Given the description of an element on the screen output the (x, y) to click on. 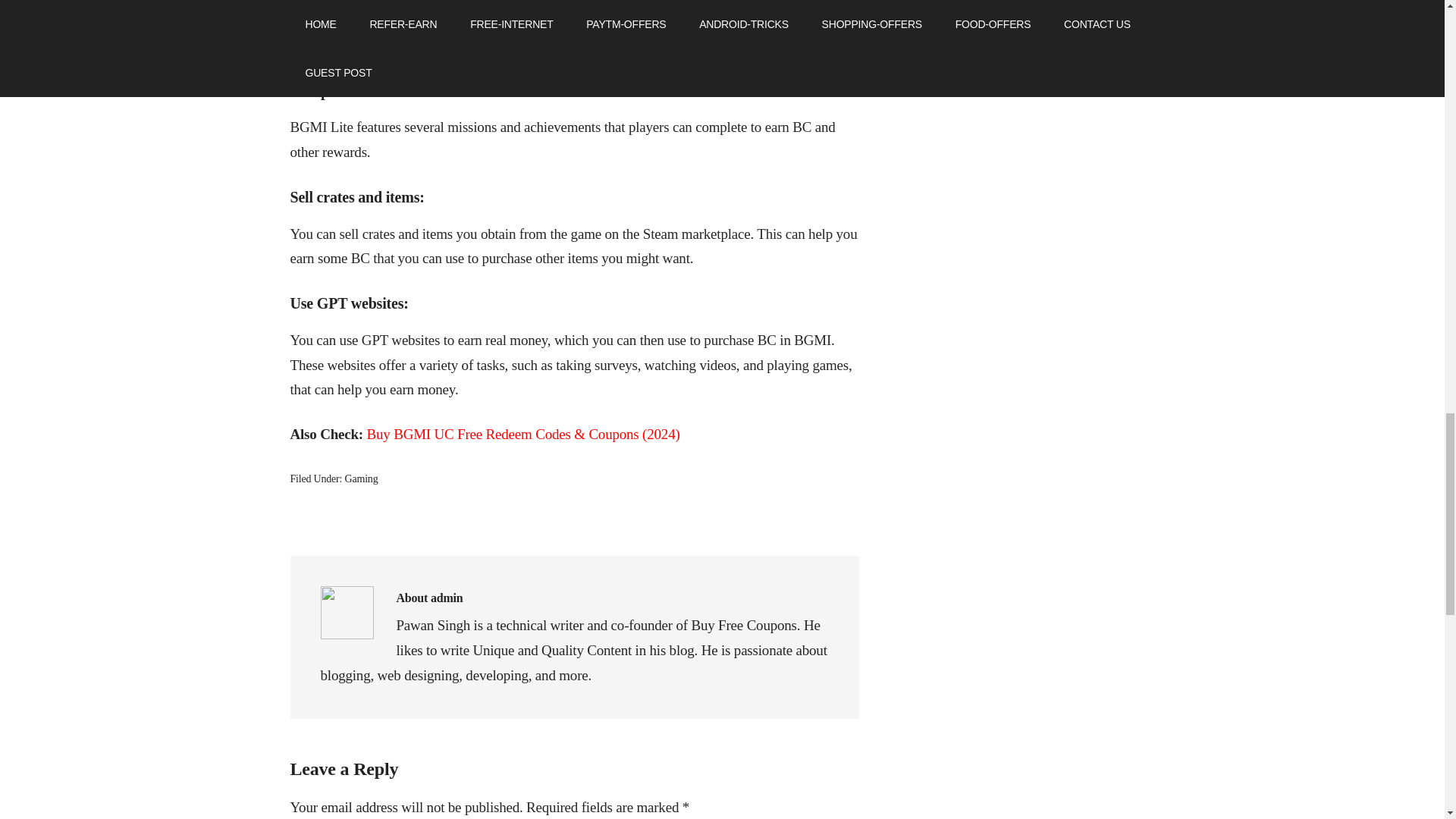
Gaming (361, 478)
